Given the description of an element on the screen output the (x, y) to click on. 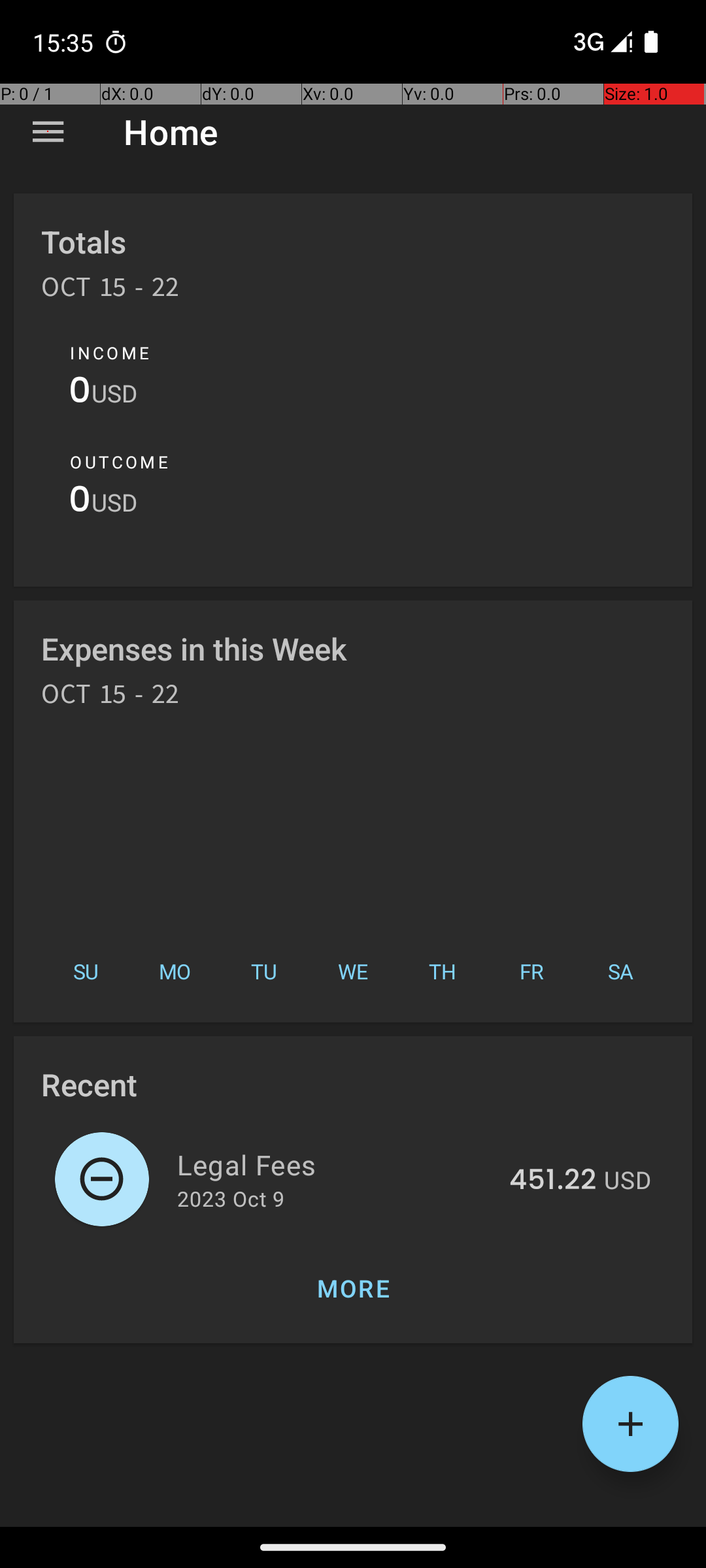
Legal Fees Element type: android.widget.TextView (335, 1164)
451.22 Element type: android.widget.TextView (552, 1180)
